Given the description of an element on the screen output the (x, y) to click on. 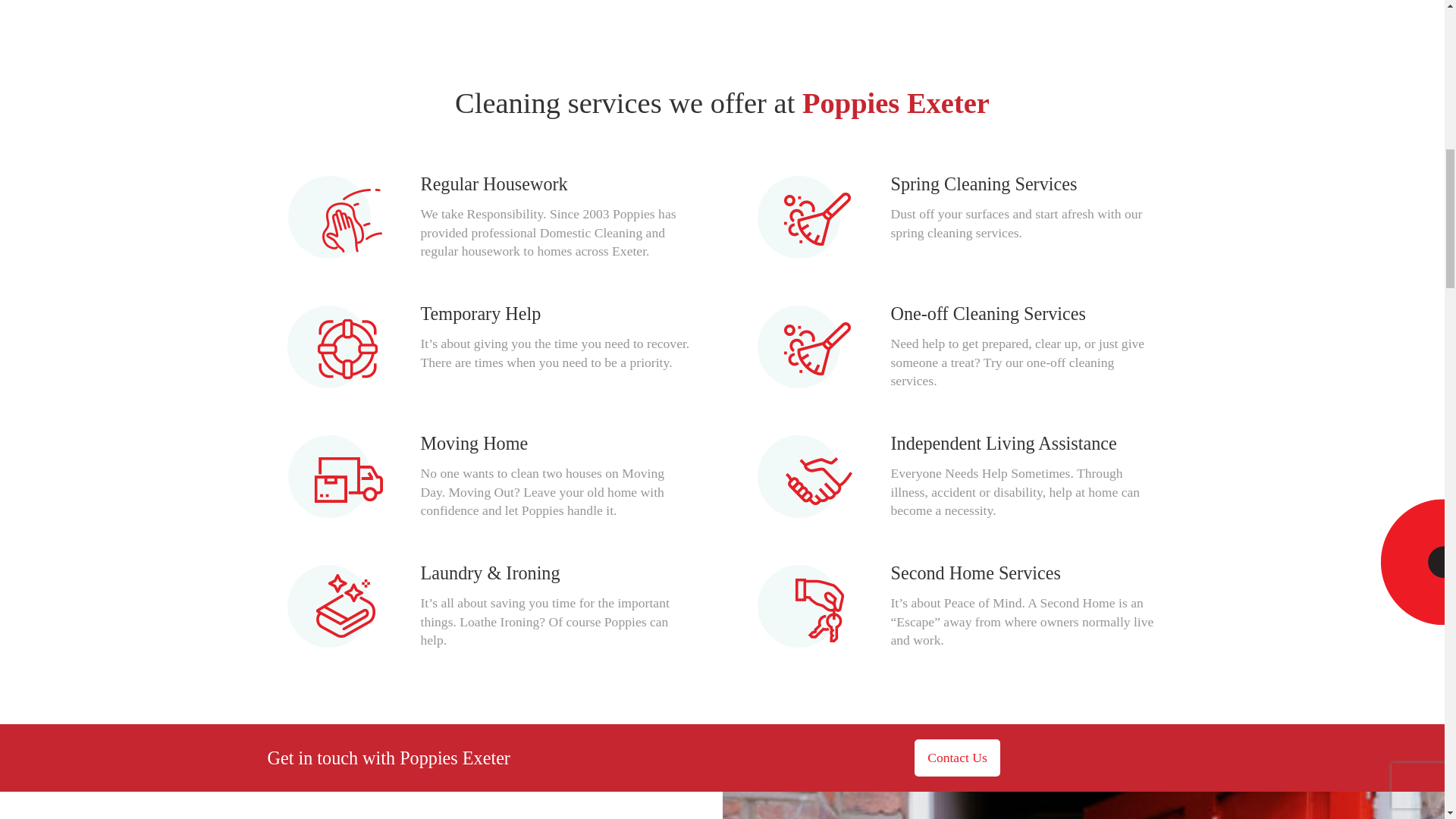
Contact Us (957, 757)
